Given the description of an element on the screen output the (x, y) to click on. 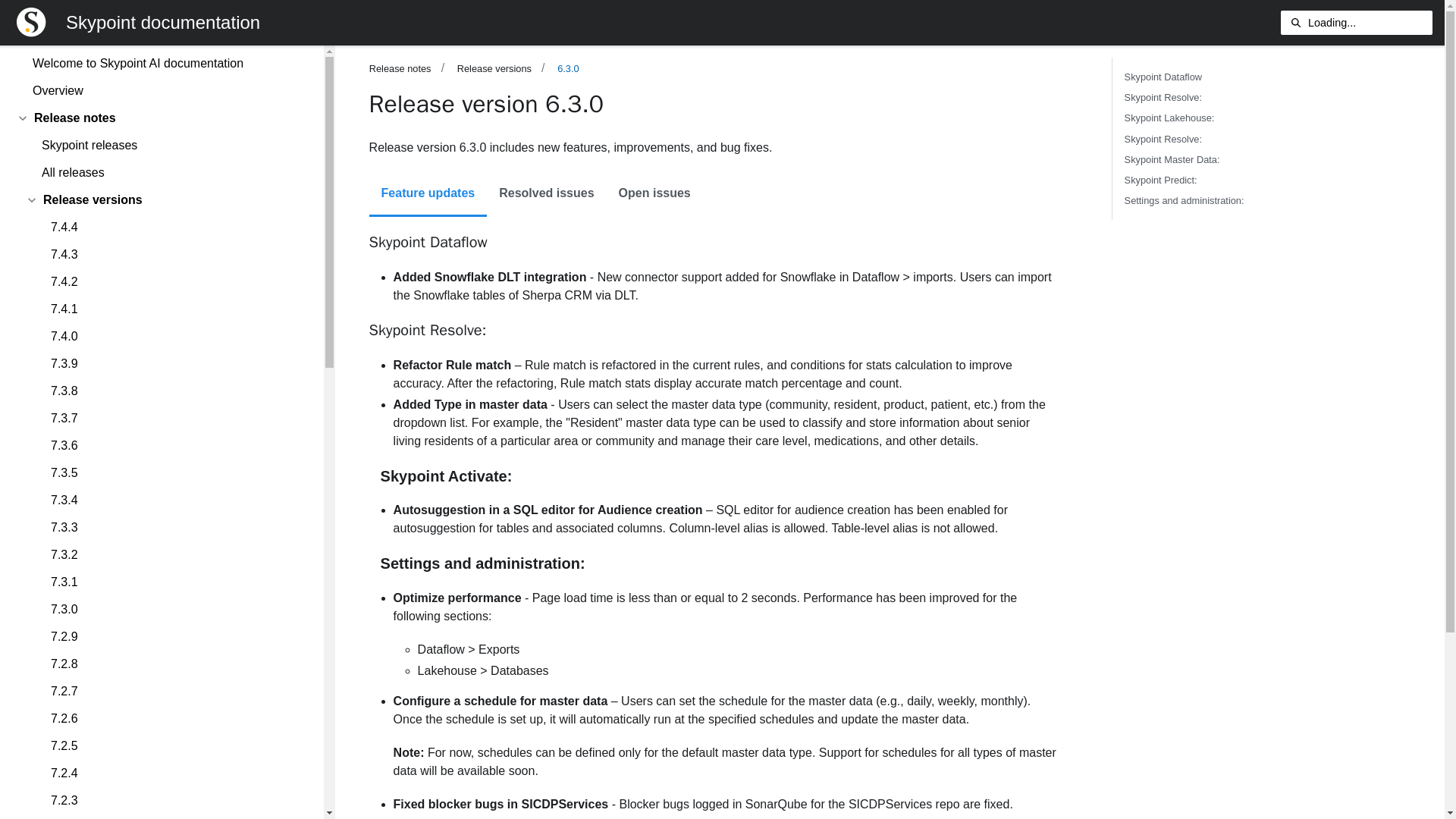
7.3.1 (173, 582)
7.2.6 (173, 718)
7.2.4 (173, 773)
7.3.8 (173, 391)
7.4.4 (173, 227)
7.3.3 (173, 527)
7.2.7 (173, 691)
7.2.9 (173, 636)
Welcome to Skypoint AI documentation (164, 63)
7.4.0 (173, 336)
